Given the description of an element on the screen output the (x, y) to click on. 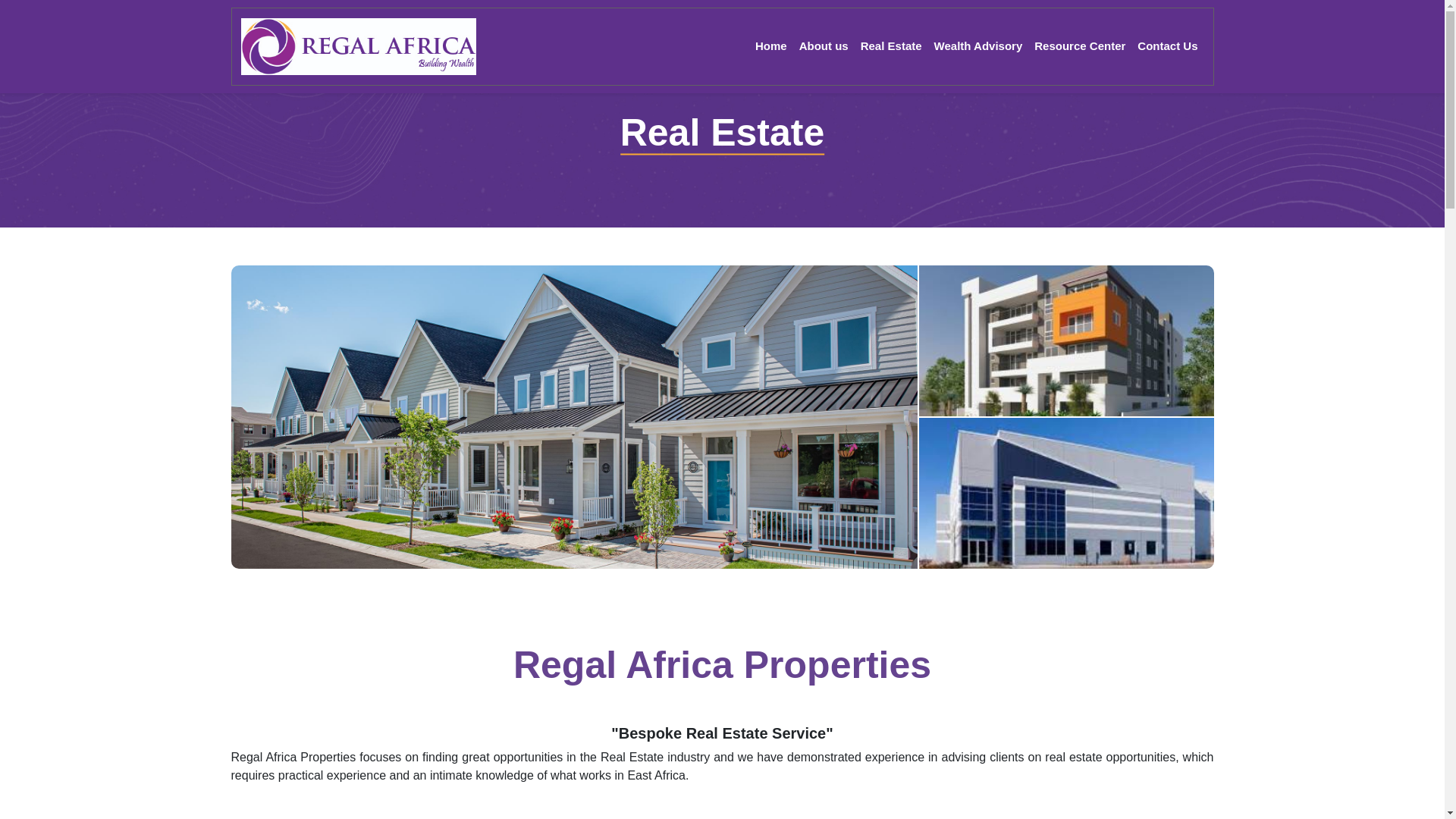
About us (823, 46)
Resource Center (1079, 46)
Wealth Advisory (978, 46)
Contact Us (1167, 46)
Home (771, 46)
Real Estate (891, 46)
